Given the description of an element on the screen output the (x, y) to click on. 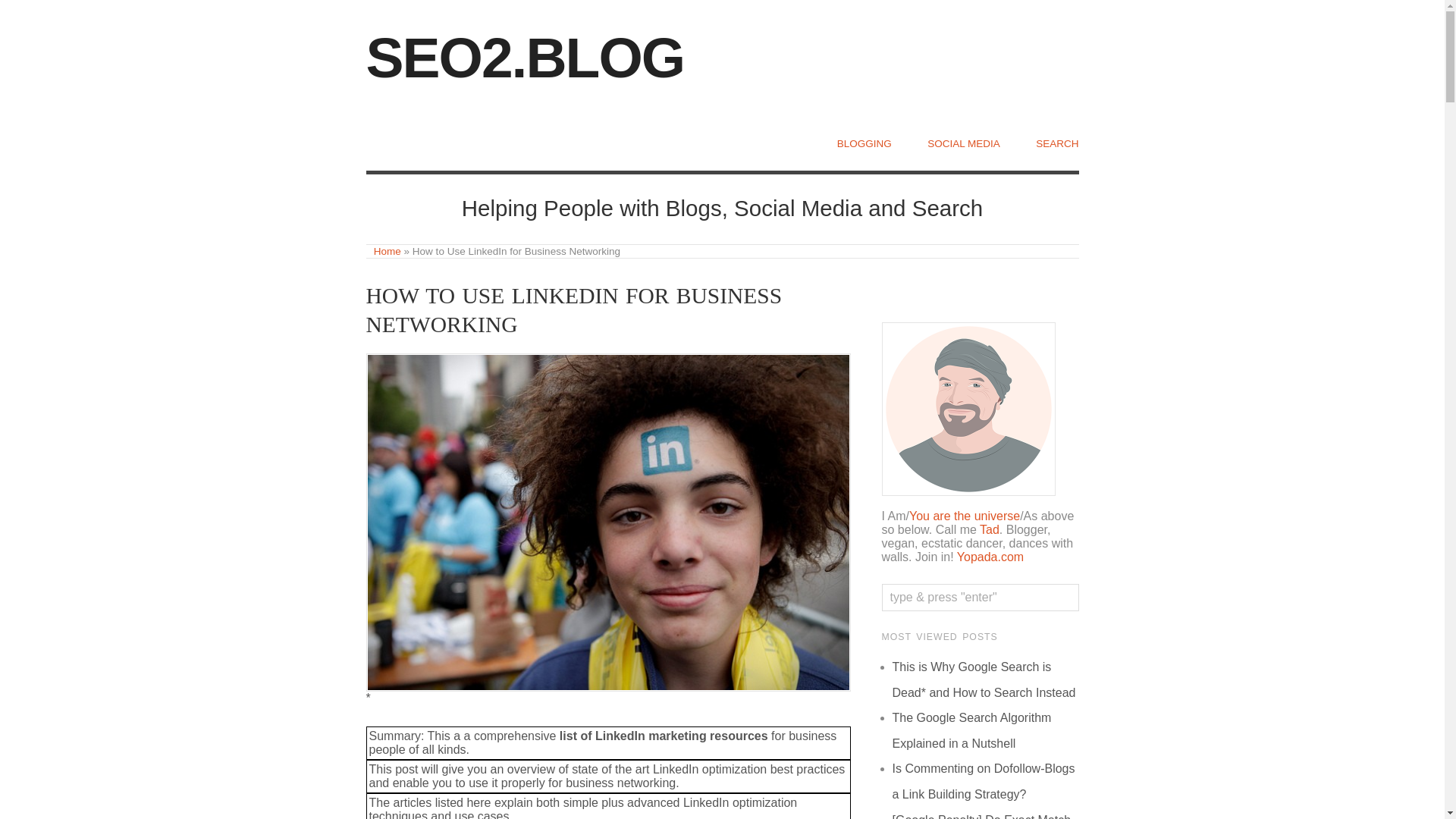
SEO2.blog (387, 251)
SOCIAL MEDIA (963, 143)
SEO2.BLOG (524, 57)
BLOGGING (864, 143)
Home (387, 251)
SEO2.blog (524, 57)
SEARCH (1056, 143)
